Given the description of an element on the screen output the (x, y) to click on. 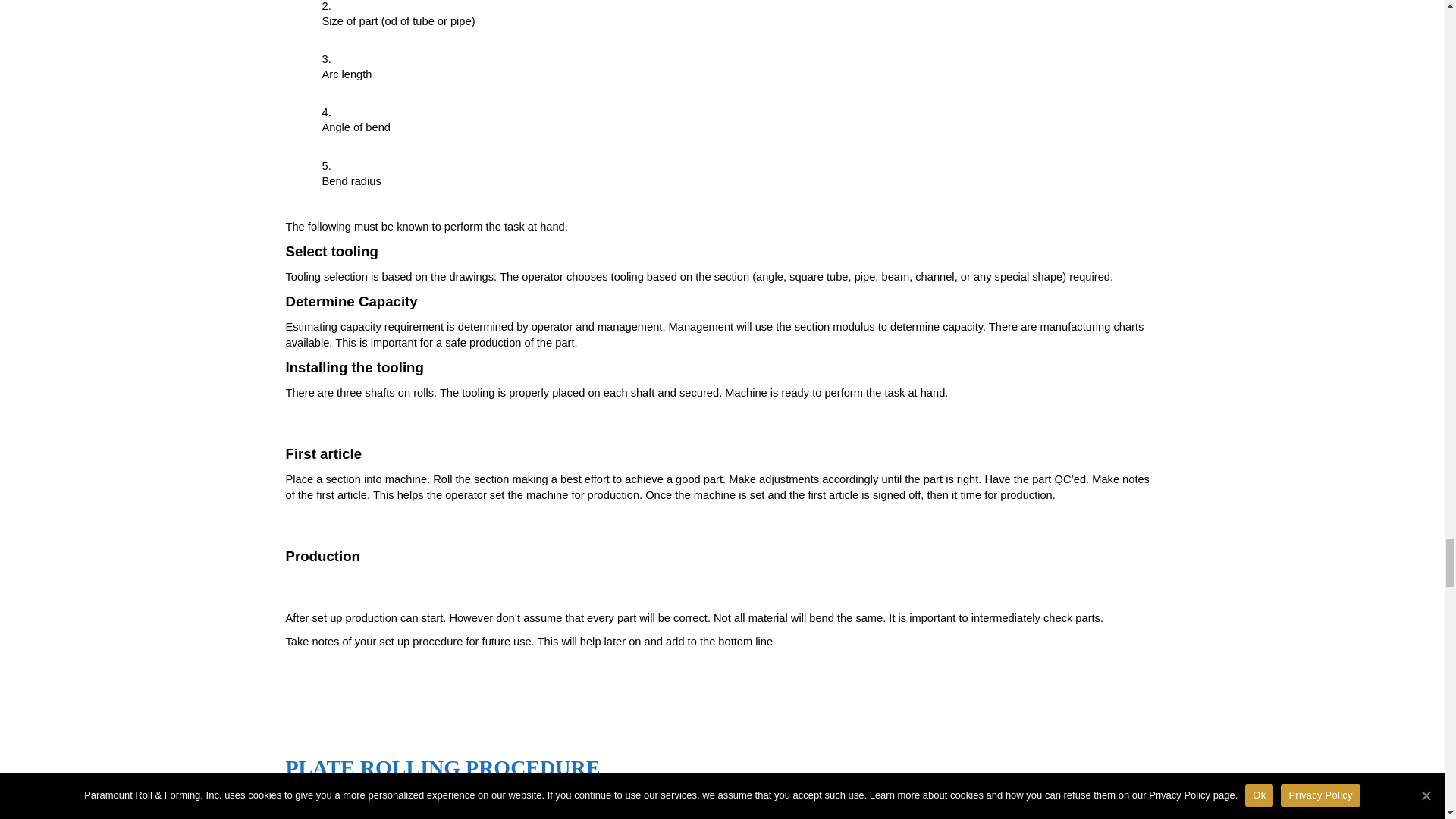
Permalink to PLATE ROLLING PROCEDURE (442, 767)
